Given the description of an element on the screen output the (x, y) to click on. 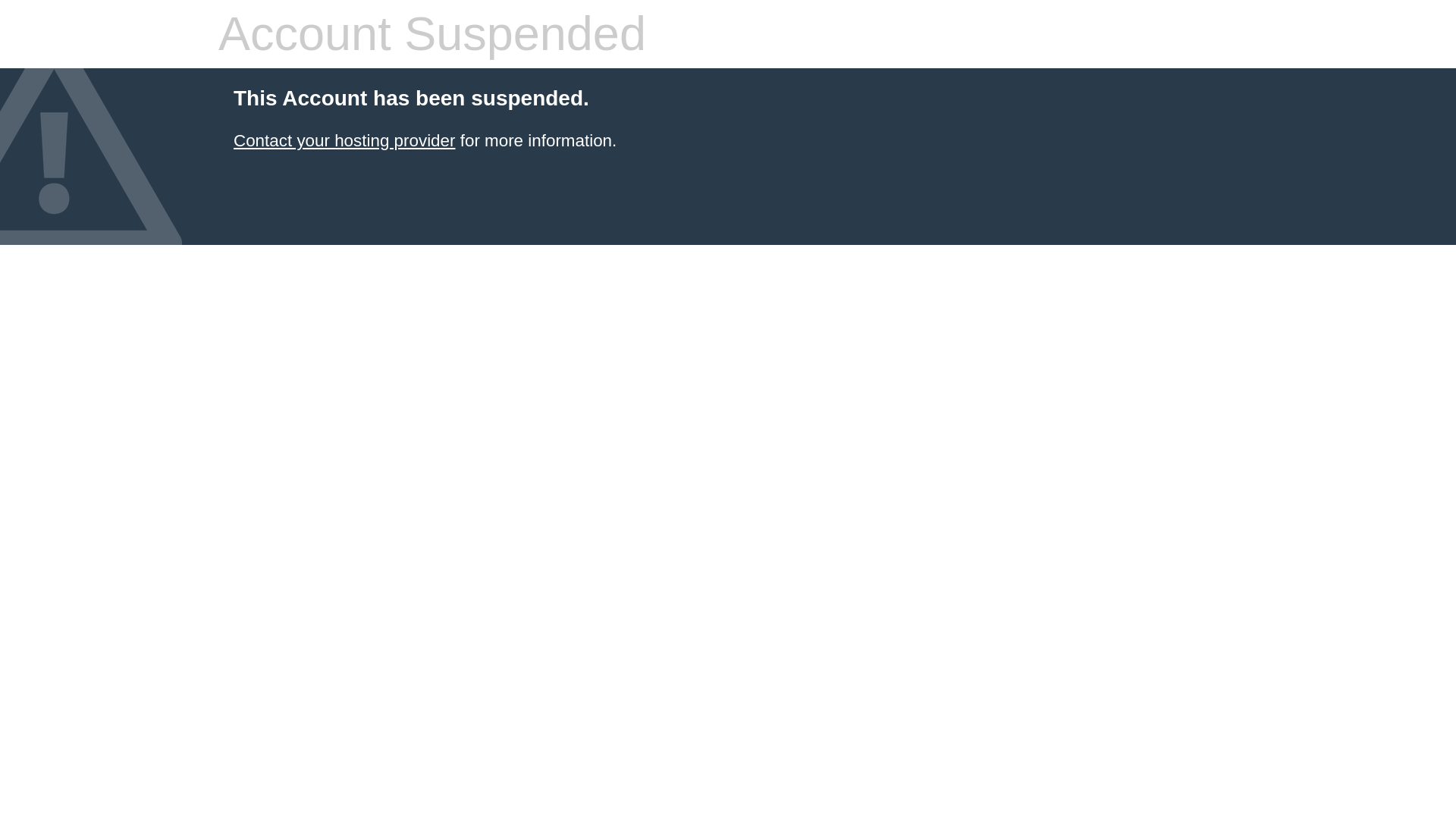
Onfrey Company (343, 140)
Contact your hosting provider (343, 140)
